Given the description of an element on the screen output the (x, y) to click on. 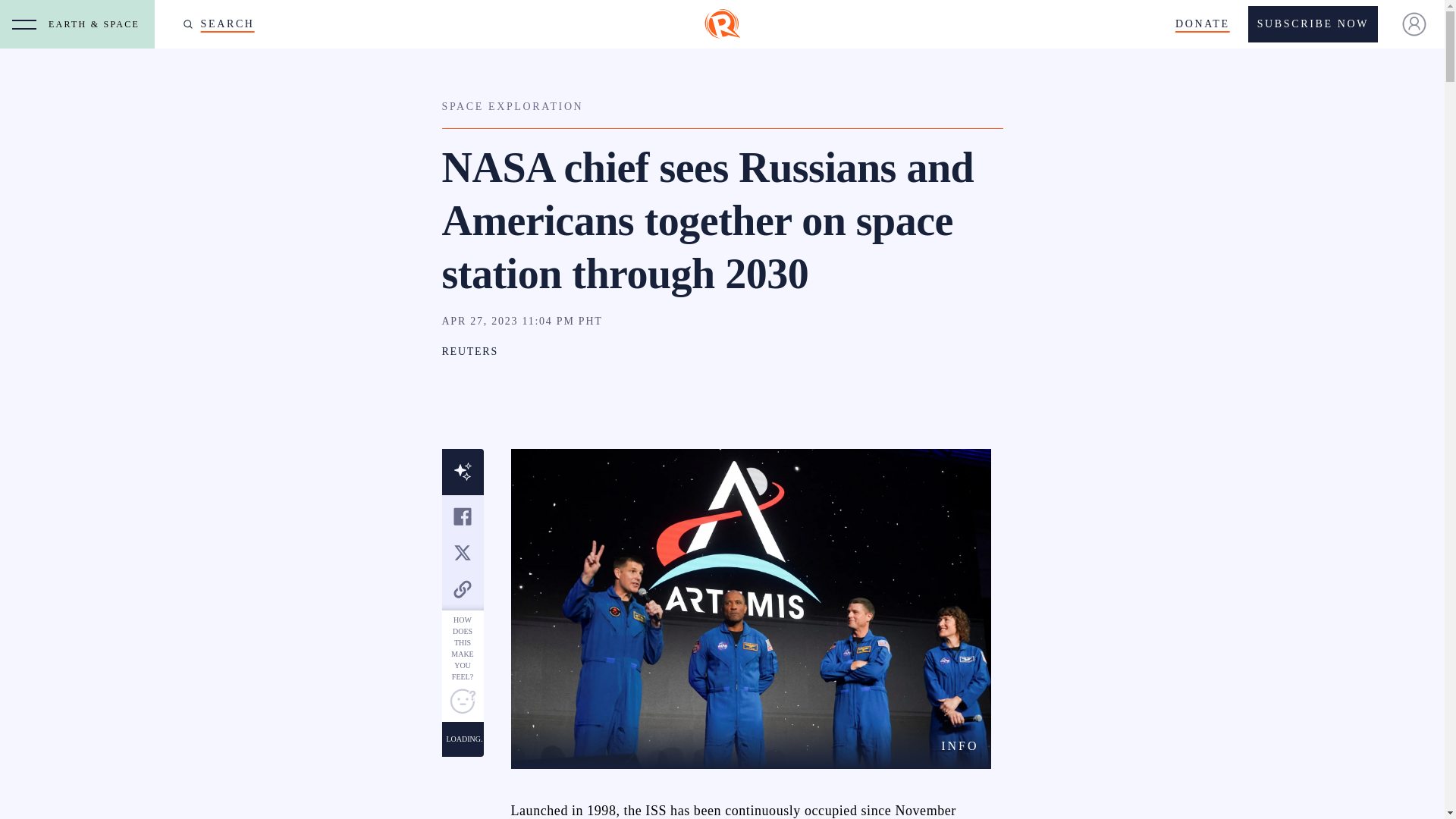
OPEN NAVIGATION (24, 24)
